Given the description of an element on the screen output the (x, y) to click on. 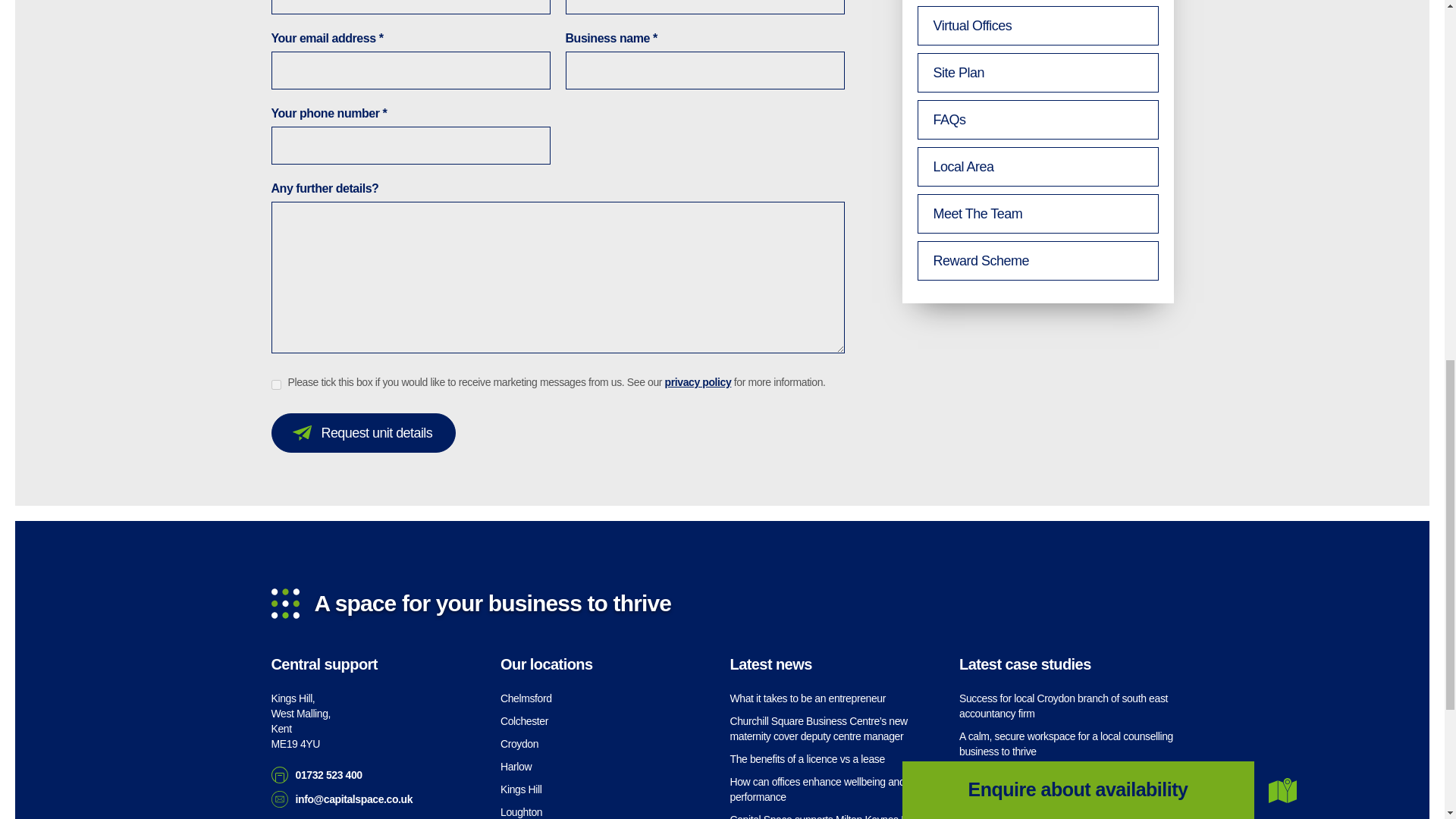
Request unit details (363, 432)
Request unit details (363, 432)
FAQs (1037, 119)
Site Plan (1037, 72)
Reward Scheme (1037, 260)
Yes (275, 384)
Local Area (1037, 166)
privacy policy (698, 381)
Meet The Team (1037, 213)
Virtual Offices (1037, 25)
